Given the description of an element on the screen output the (x, y) to click on. 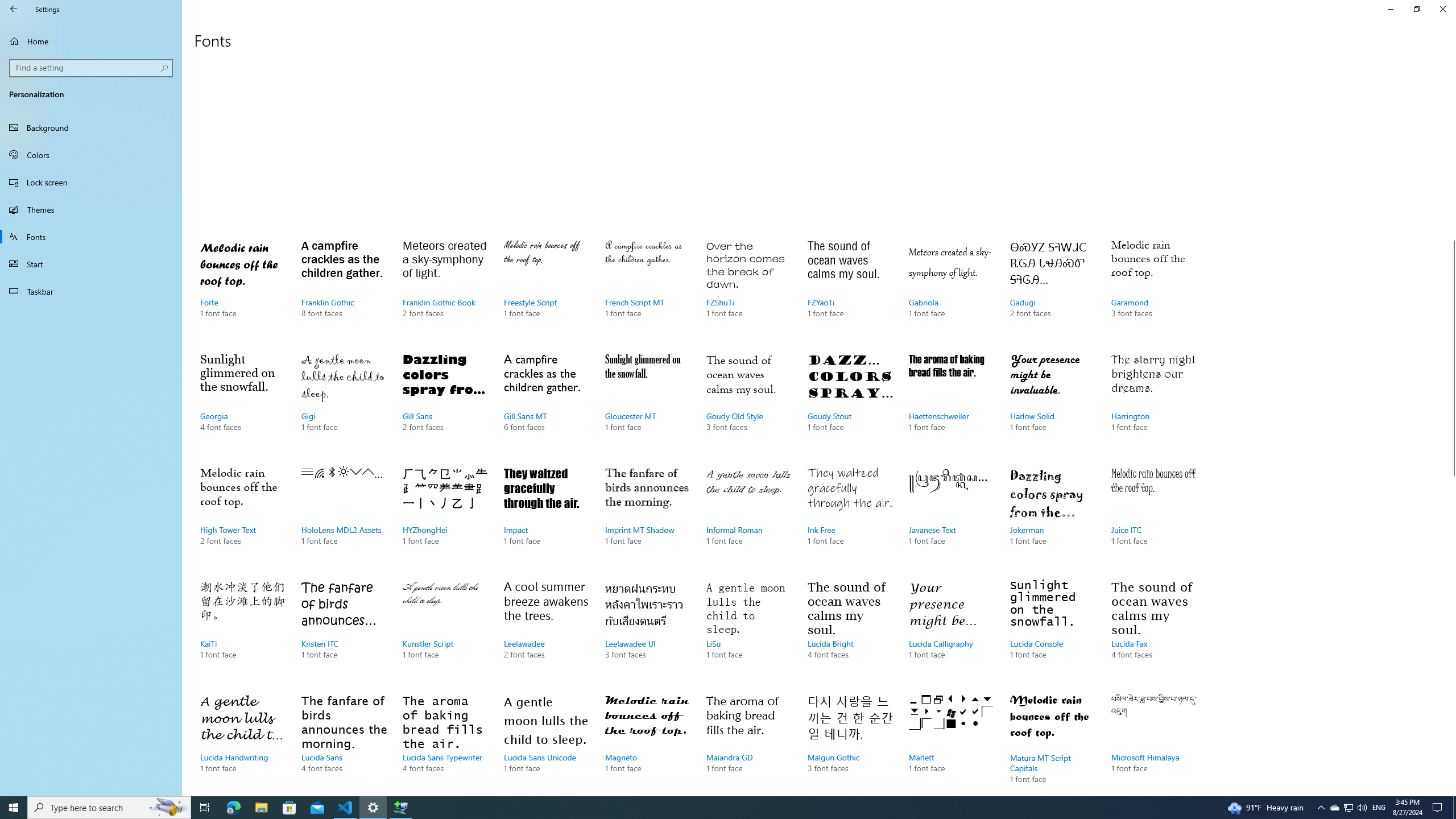
Close Settings (1442, 9)
Franklin Gothic Book, 2 font faces (445, 290)
Running applications (706, 807)
Lucida Bright, 4 font faces (850, 630)
Back (13, 9)
Goudy Old Style, 3 font faces (748, 403)
Freestyle Script, 1 font face (545, 290)
French Script MT, 1 font face (647, 290)
Marlett, 1 font face (951, 741)
Task View (204, 807)
Gigi, 1 font face (343, 403)
Leelawadee UI, 3 font faces (647, 630)
Gloucester MT, 1 font face (647, 403)
Lucida Console, 1 font face (1052, 630)
Microsoft Store (289, 807)
